Given the description of an element on the screen output the (x, y) to click on. 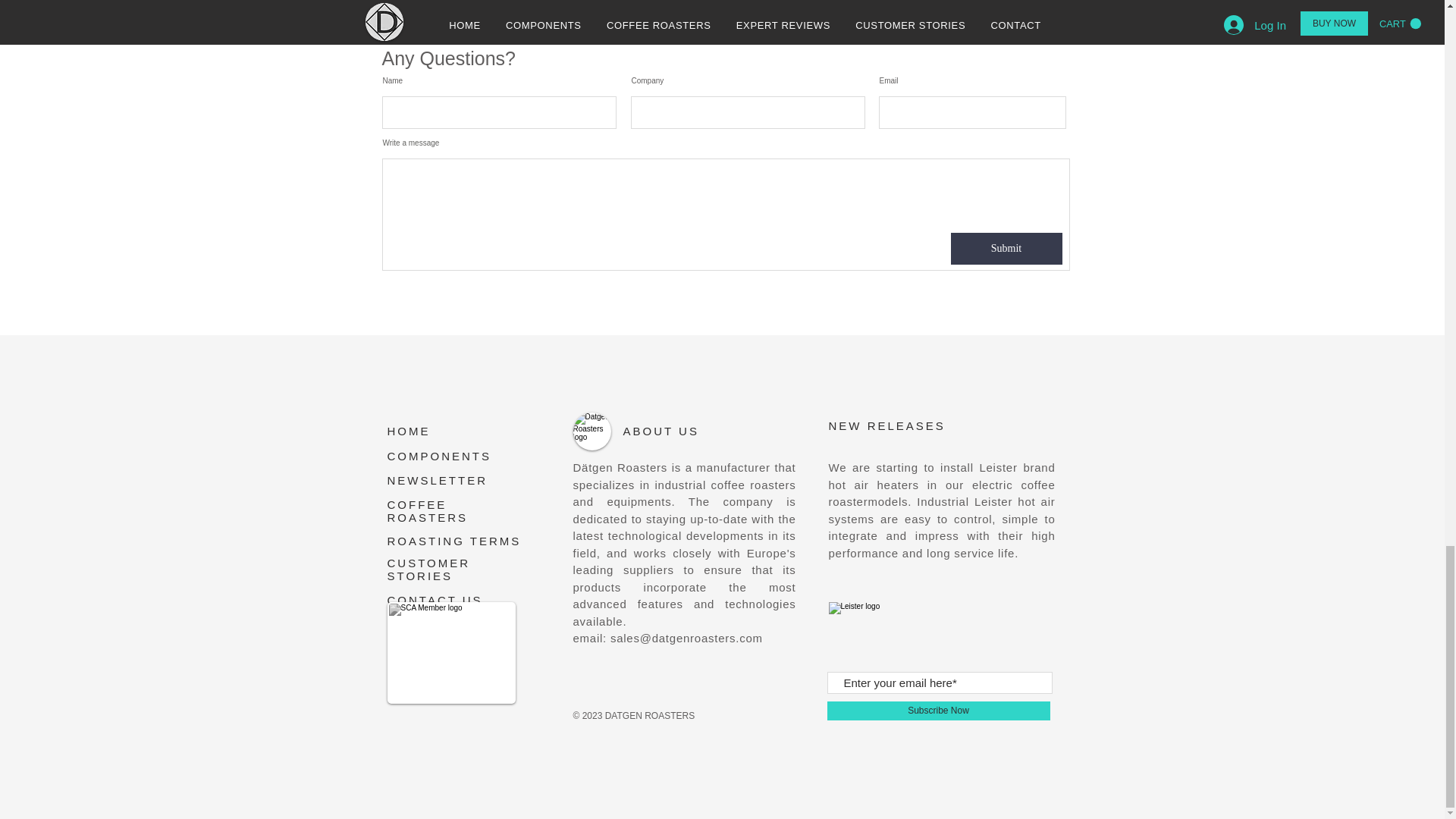
COMPONENTS (439, 455)
Submit (1006, 248)
HOME (408, 431)
